Given the description of an element on the screen output the (x, y) to click on. 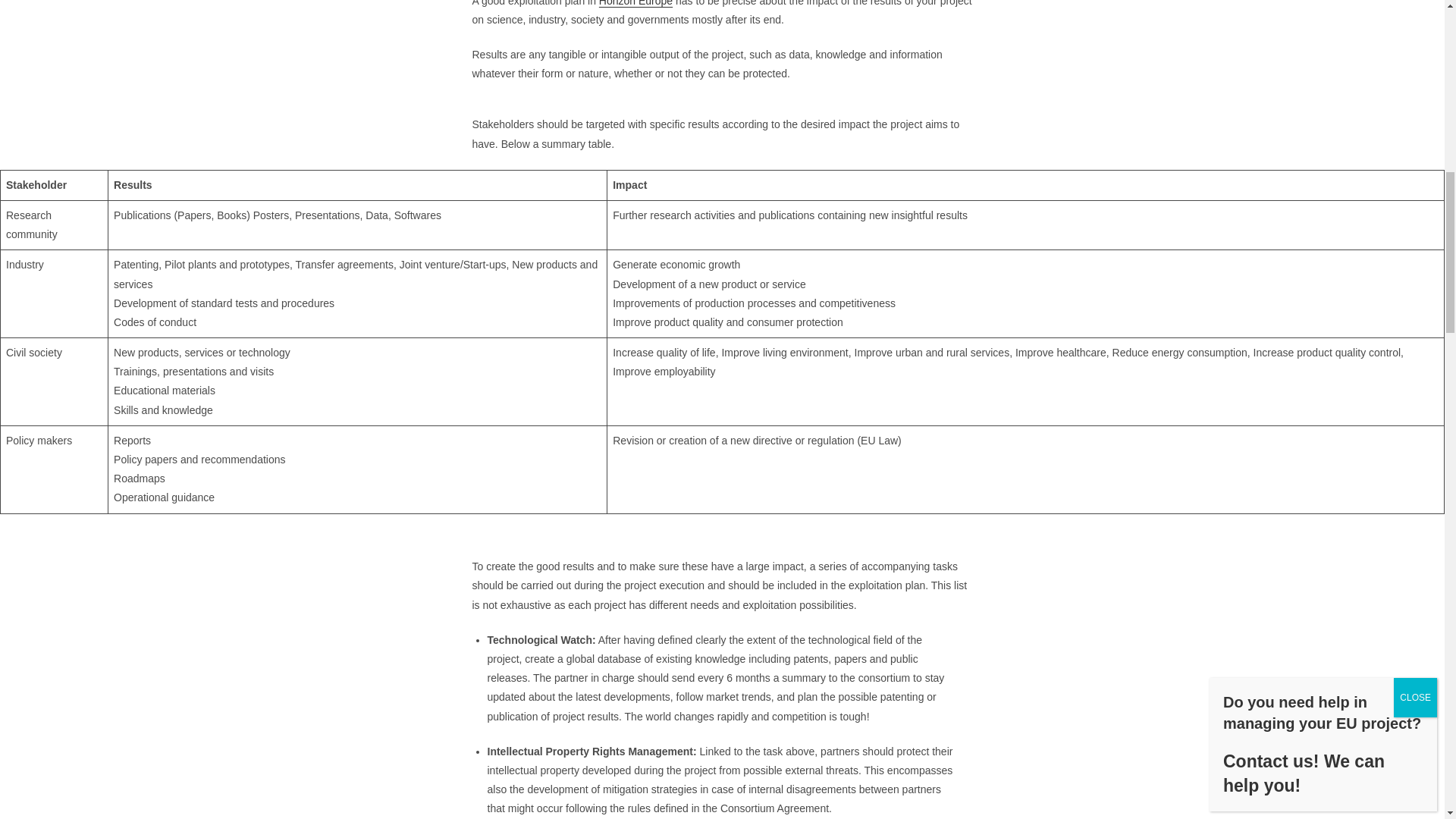
Horizon Europe (635, 3)
